Given the description of an element on the screen output the (x, y) to click on. 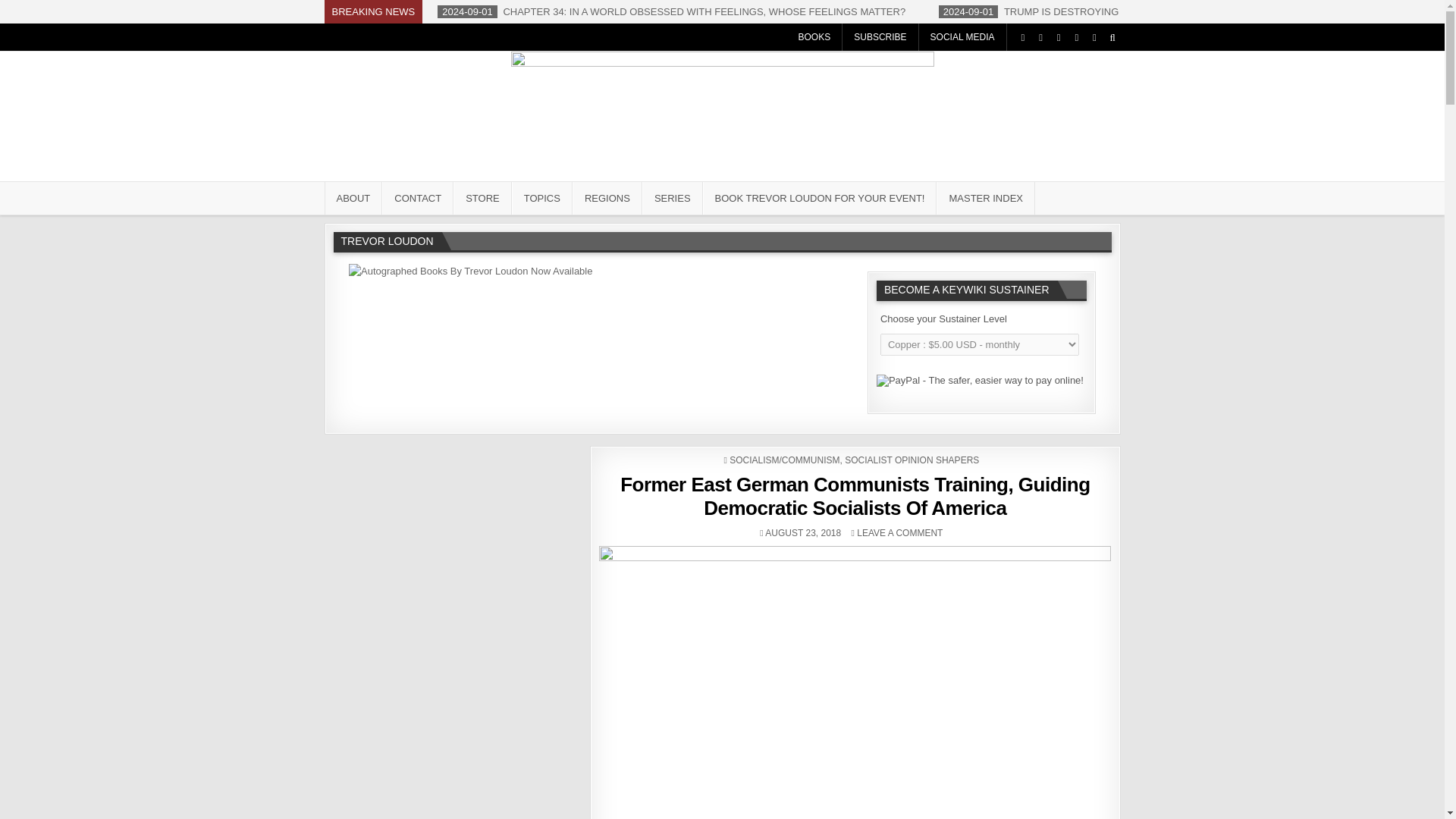
Google Plus (1058, 37)
SOCIAL MEDIA (962, 36)
ABOUT (353, 197)
Search (1112, 37)
BOOKS (815, 36)
Click To Buy Books (470, 270)
TOPICS (542, 197)
CONTACT (416, 197)
REGIONS (607, 197)
